Given the description of an element on the screen output the (x, y) to click on. 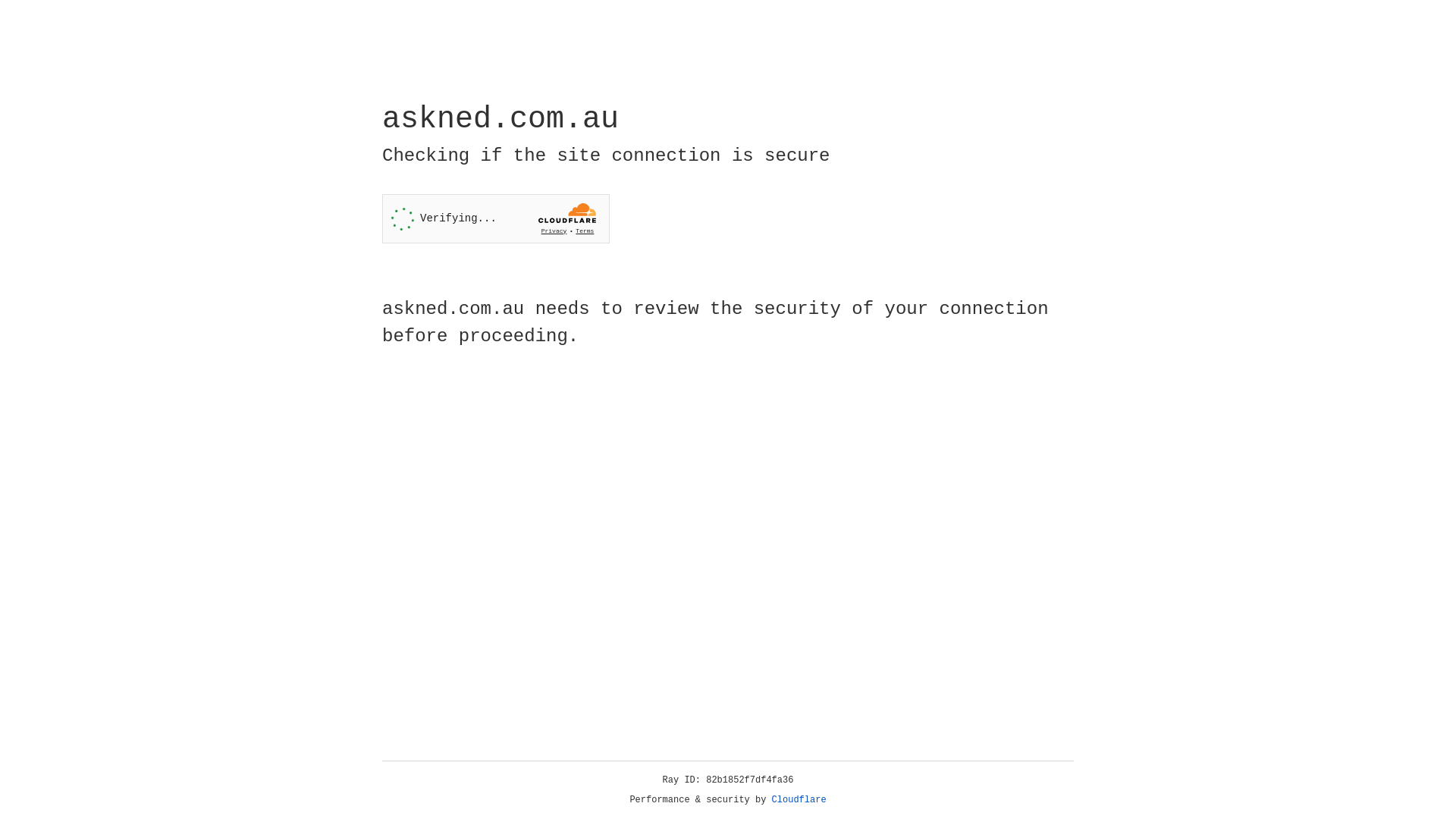
Cloudflare Element type: text (798, 799)
Widget containing a Cloudflare security challenge Element type: hover (495, 218)
